Given the description of an element on the screen output the (x, y) to click on. 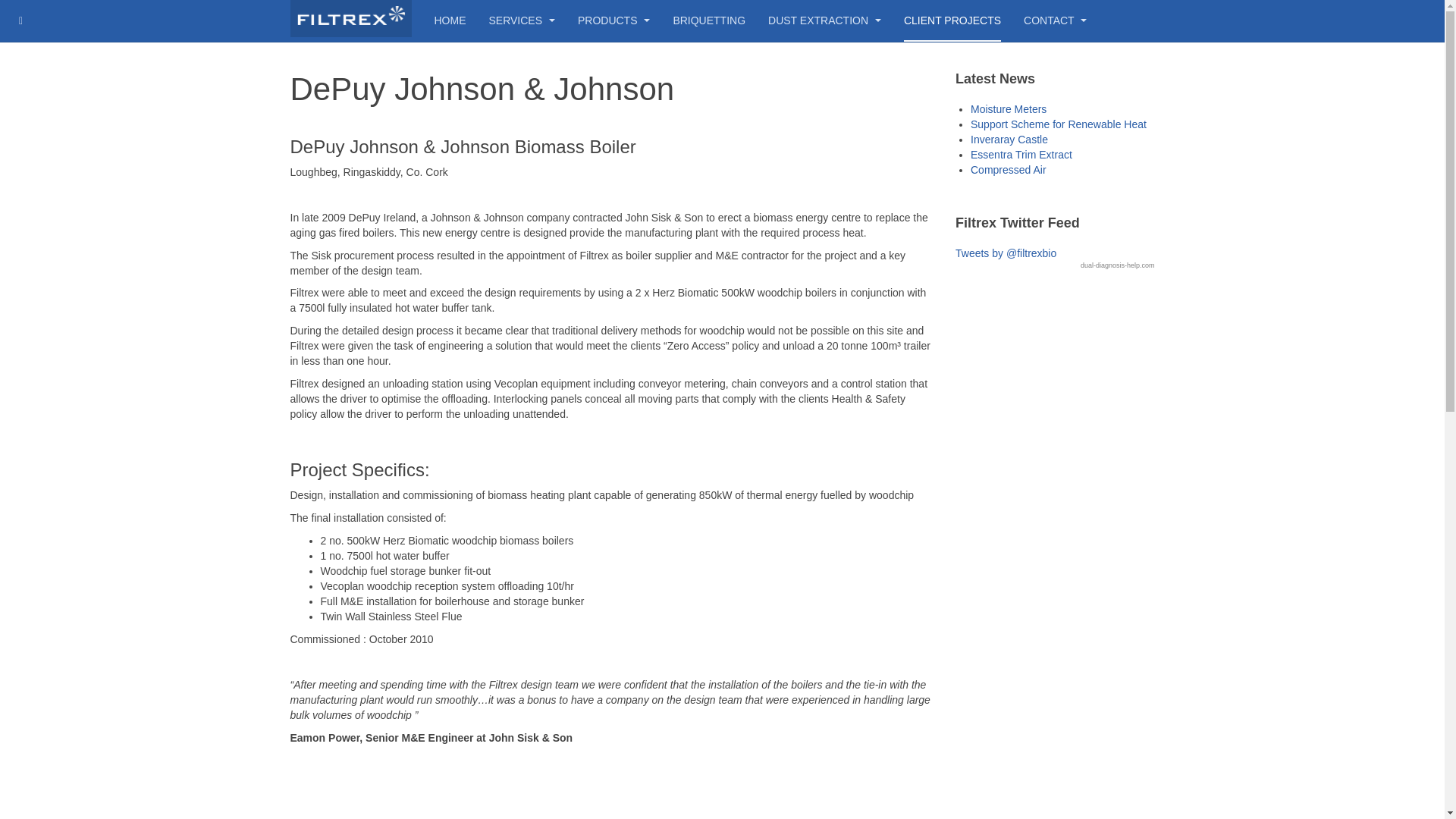
PRODUCTS (613, 20)
click here (1117, 264)
Filtrex (349, 18)
SERVICES (520, 20)
BRIQUETTING (708, 20)
DUST EXTRACTION (824, 20)
